Given the description of an element on the screen output the (x, y) to click on. 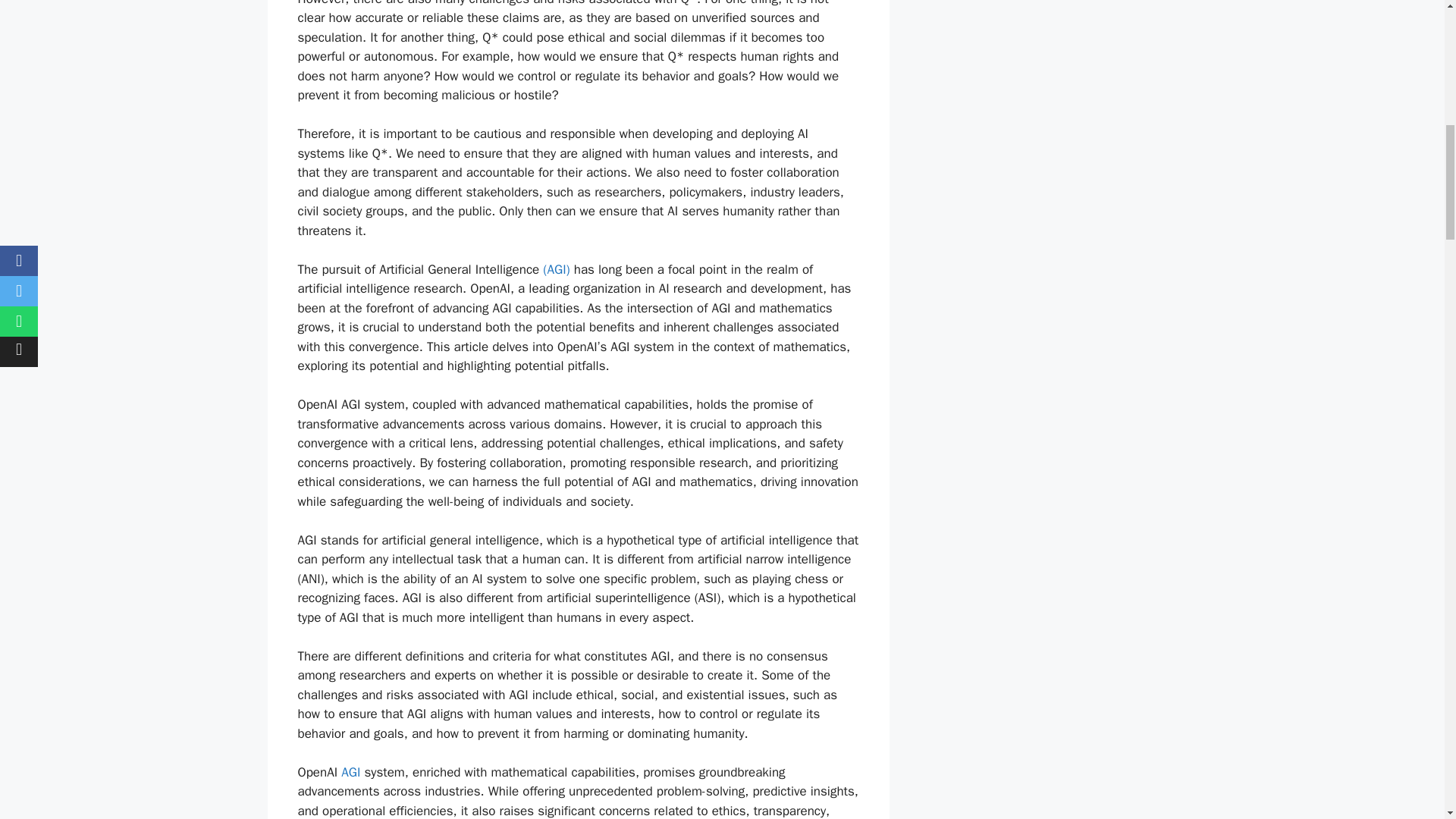
AGI (349, 772)
